Given the description of an element on the screen output the (x, y) to click on. 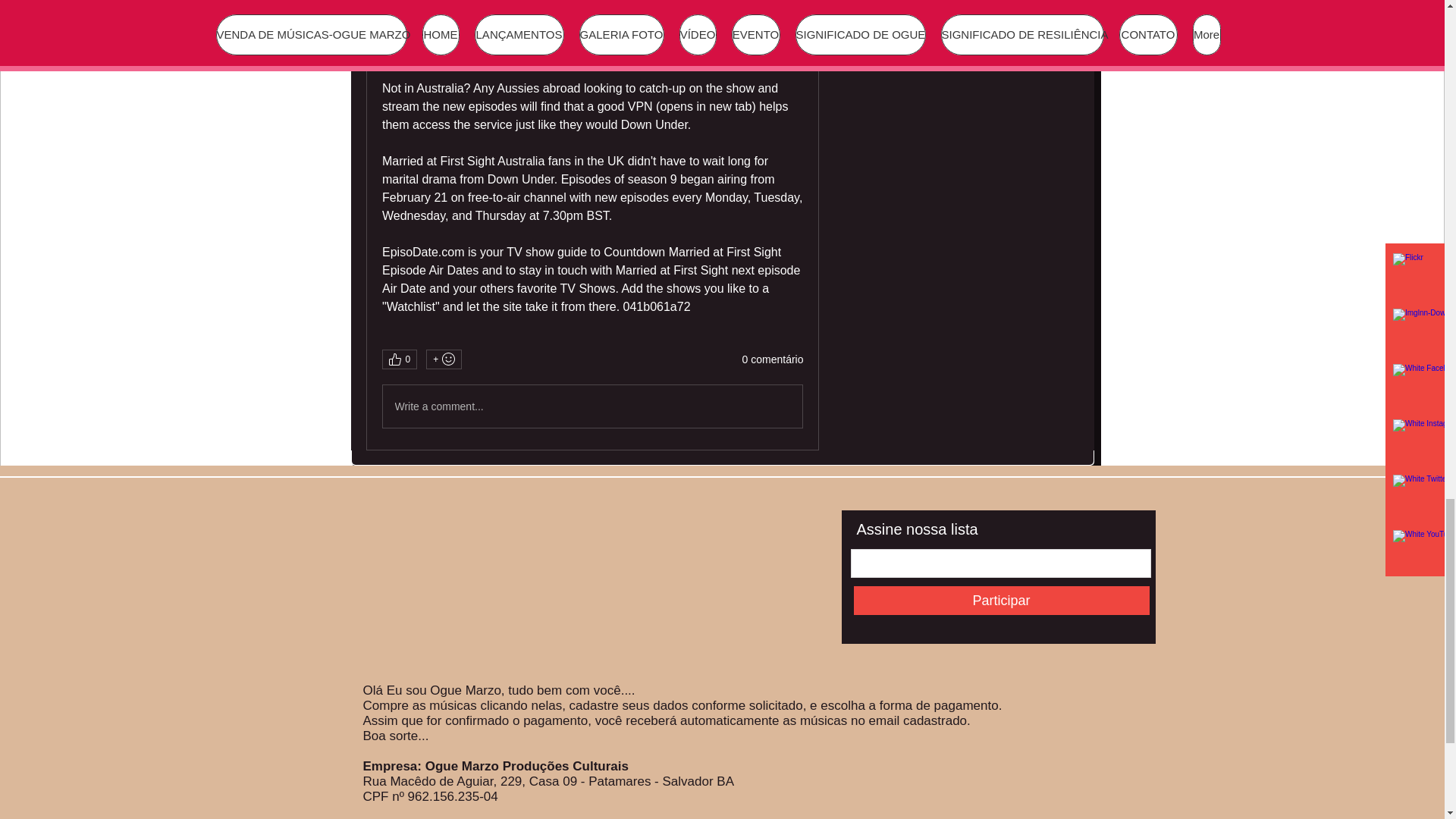
Write a comment... (591, 405)
